Given the description of an element on the screen output the (x, y) to click on. 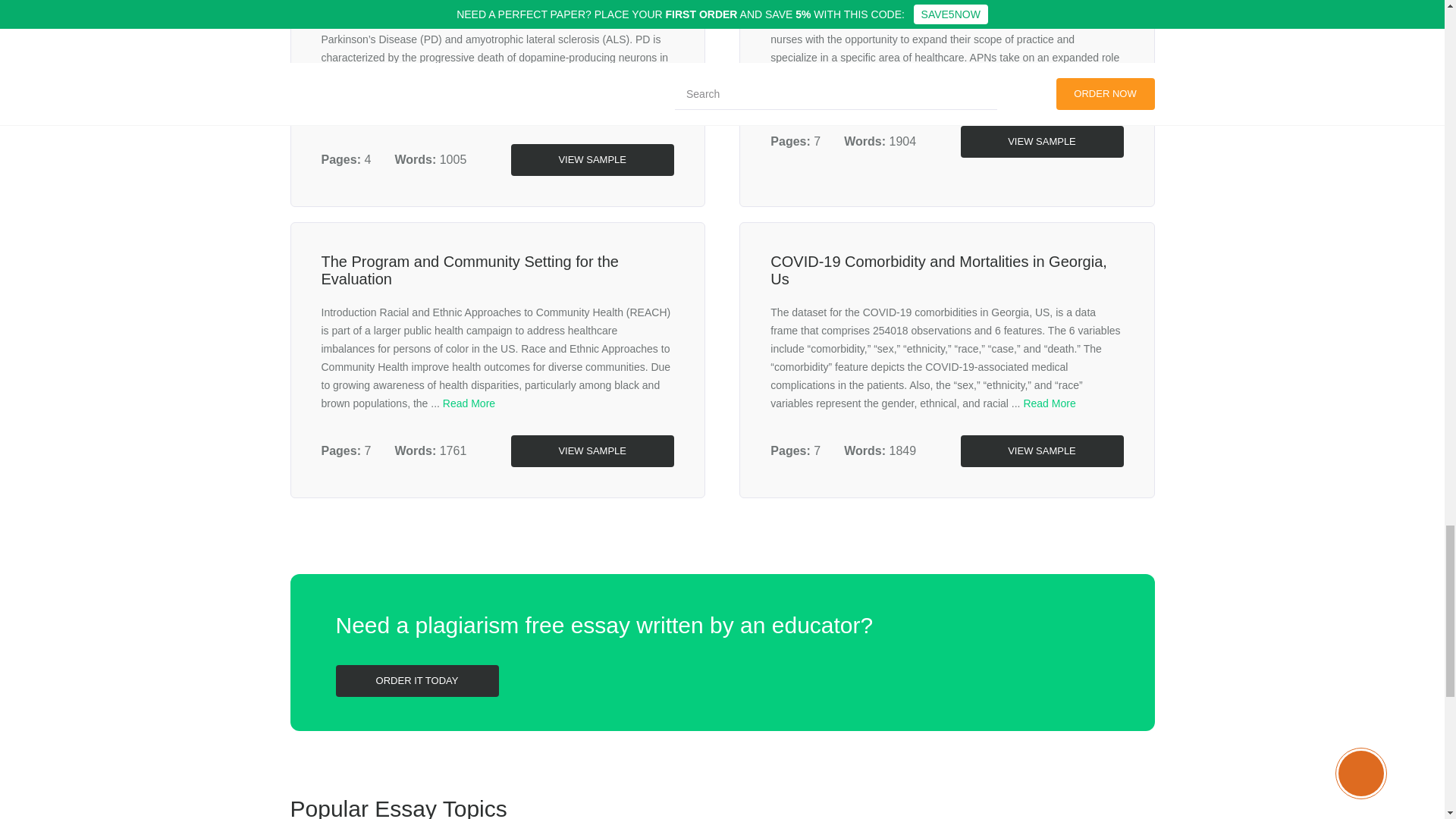
VIEW SAMPLE (1040, 142)
VIEW SAMPLE (592, 450)
Read More (1049, 403)
COVID-19 Comorbidity and Mortalities in Georgia, Us (938, 270)
ORDER IT TODAY (415, 680)
Read More (468, 403)
Read More (997, 93)
VIEW SAMPLE (592, 160)
Read More (420, 111)
The Program and Community Setting for the Evaluation (469, 270)
